Given the description of an element on the screen output the (x, y) to click on. 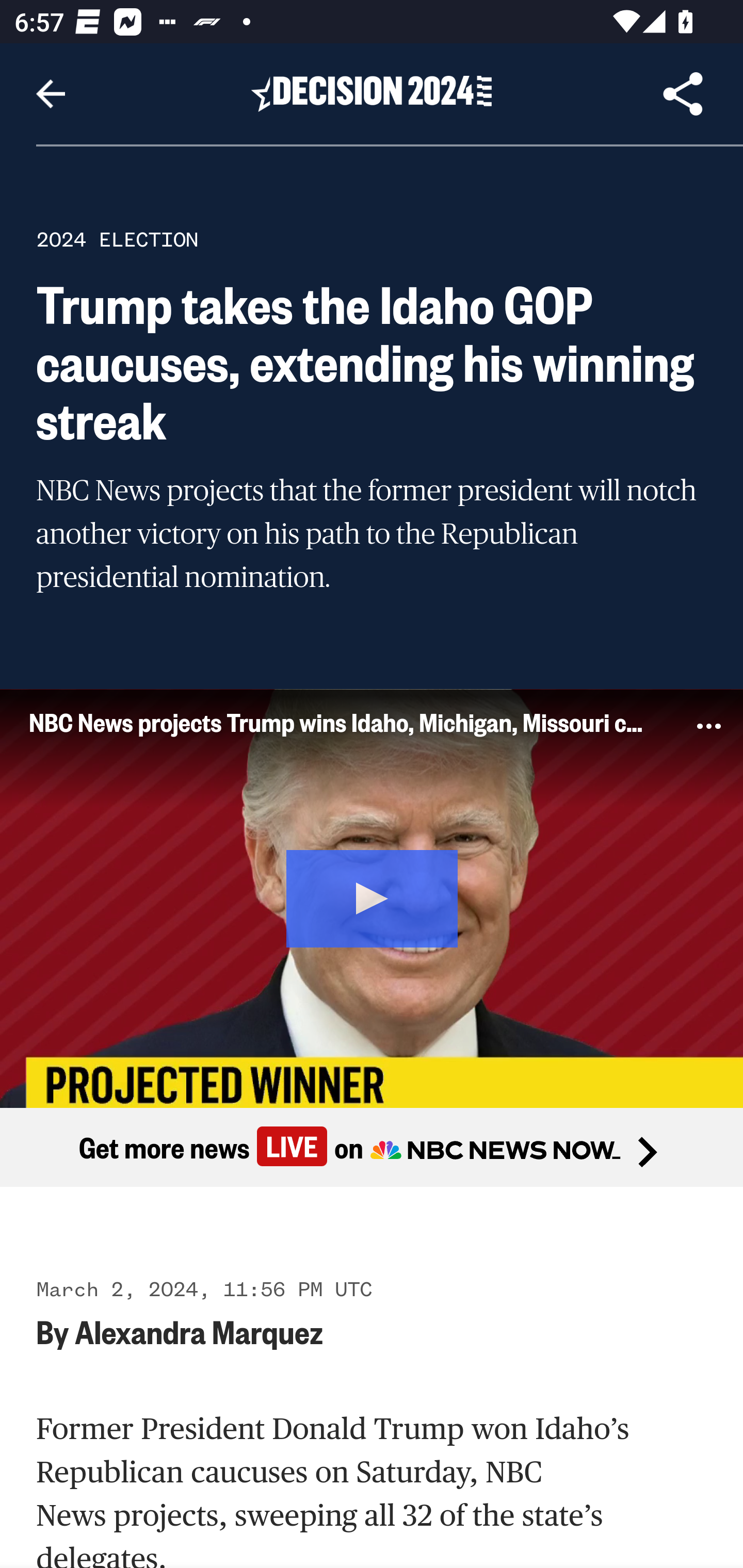
Navigate up (50, 93)
Share Article, button (683, 94)
Header, Decision 2024 (371, 93)
2024 ELECTION (117, 239)
Video Player Unable to play media. Play   (371, 897)
Play (372, 896)
Get more news Live on Get more news Live on (371, 1147)
